Given the description of an element on the screen output the (x, y) to click on. 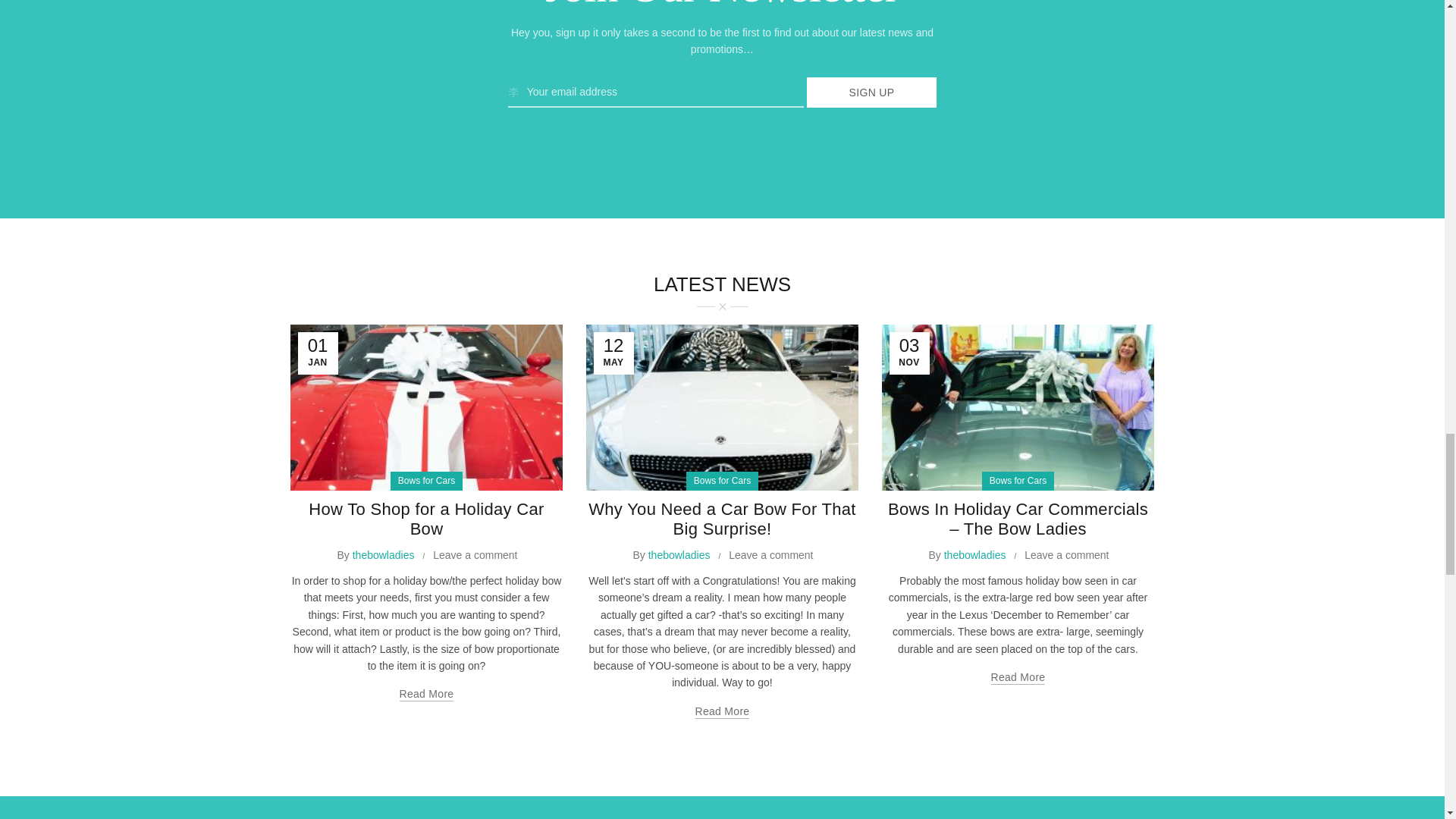
Sign up (871, 91)
